Given the description of an element on the screen output the (x, y) to click on. 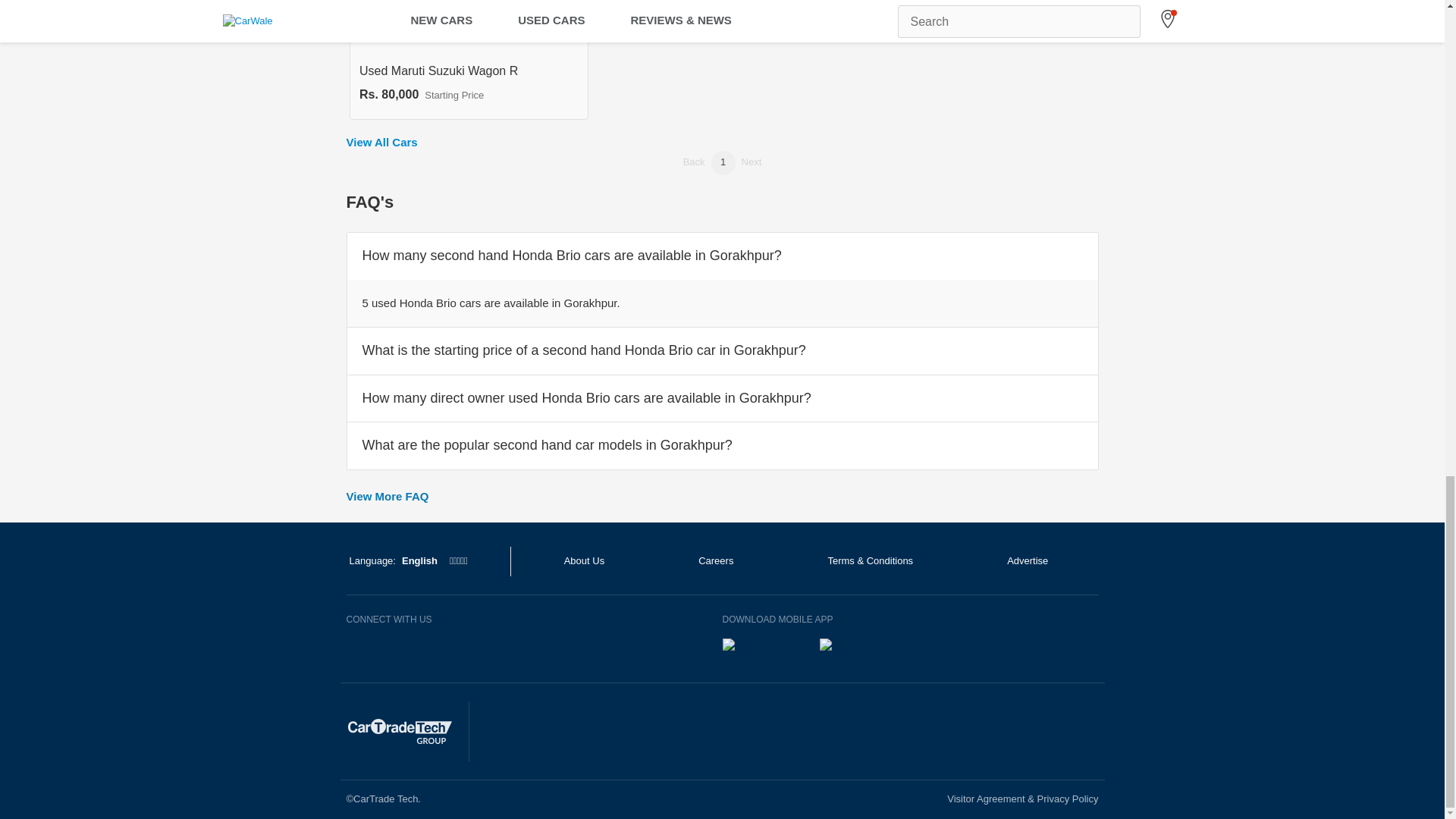
BikeWale (628, 730)
CarTrade (735, 730)
About Us (583, 561)
Mobility Outlook (841, 730)
Advertise (1026, 561)
OLX (468, 59)
Careers (947, 730)
CarWale Android App (715, 561)
About Us (759, 651)
